Given the description of an element on the screen output the (x, y) to click on. 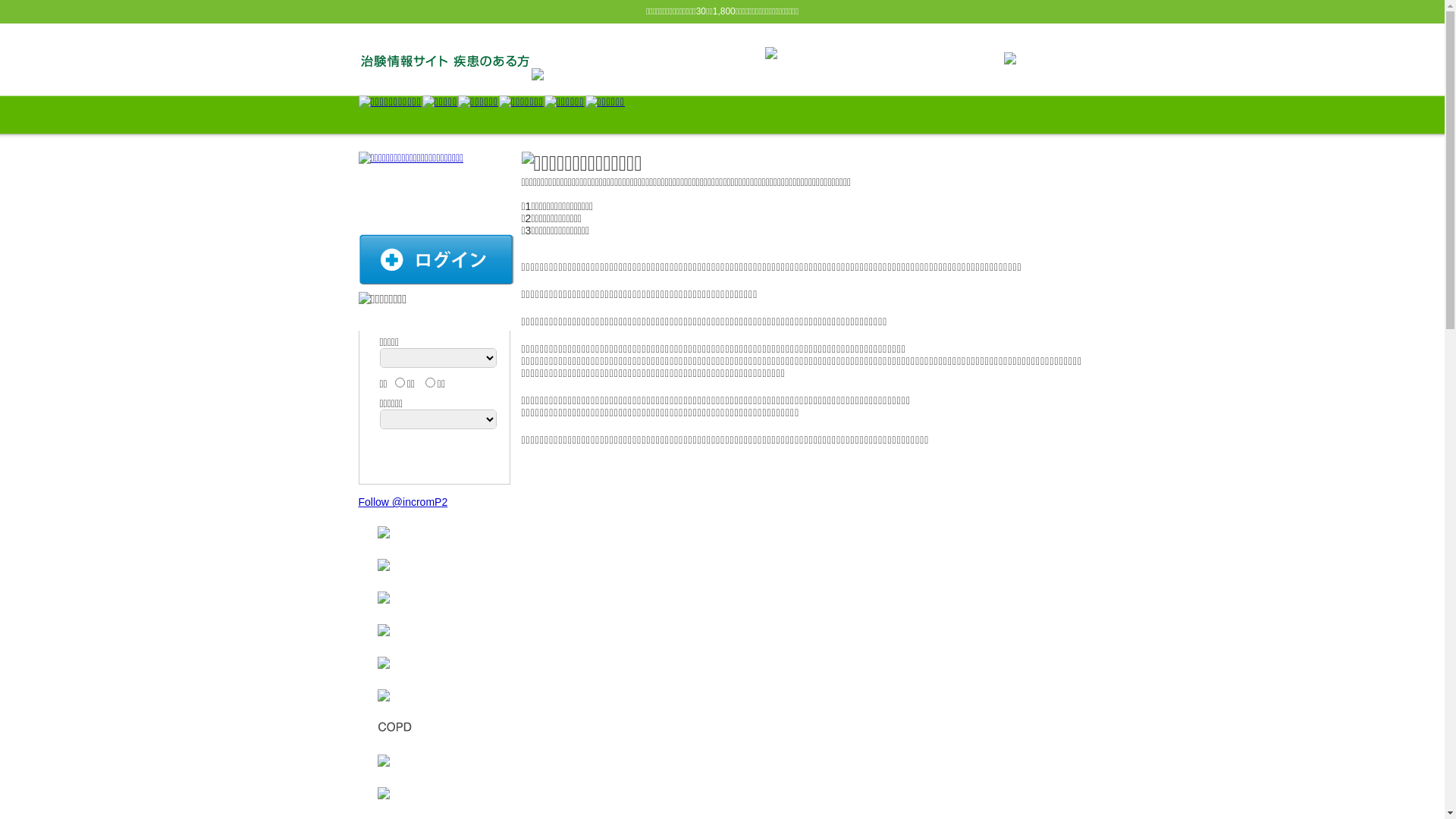
Follow @incromP2 Element type: text (402, 501)
